Given the description of an element on the screen output the (x, y) to click on. 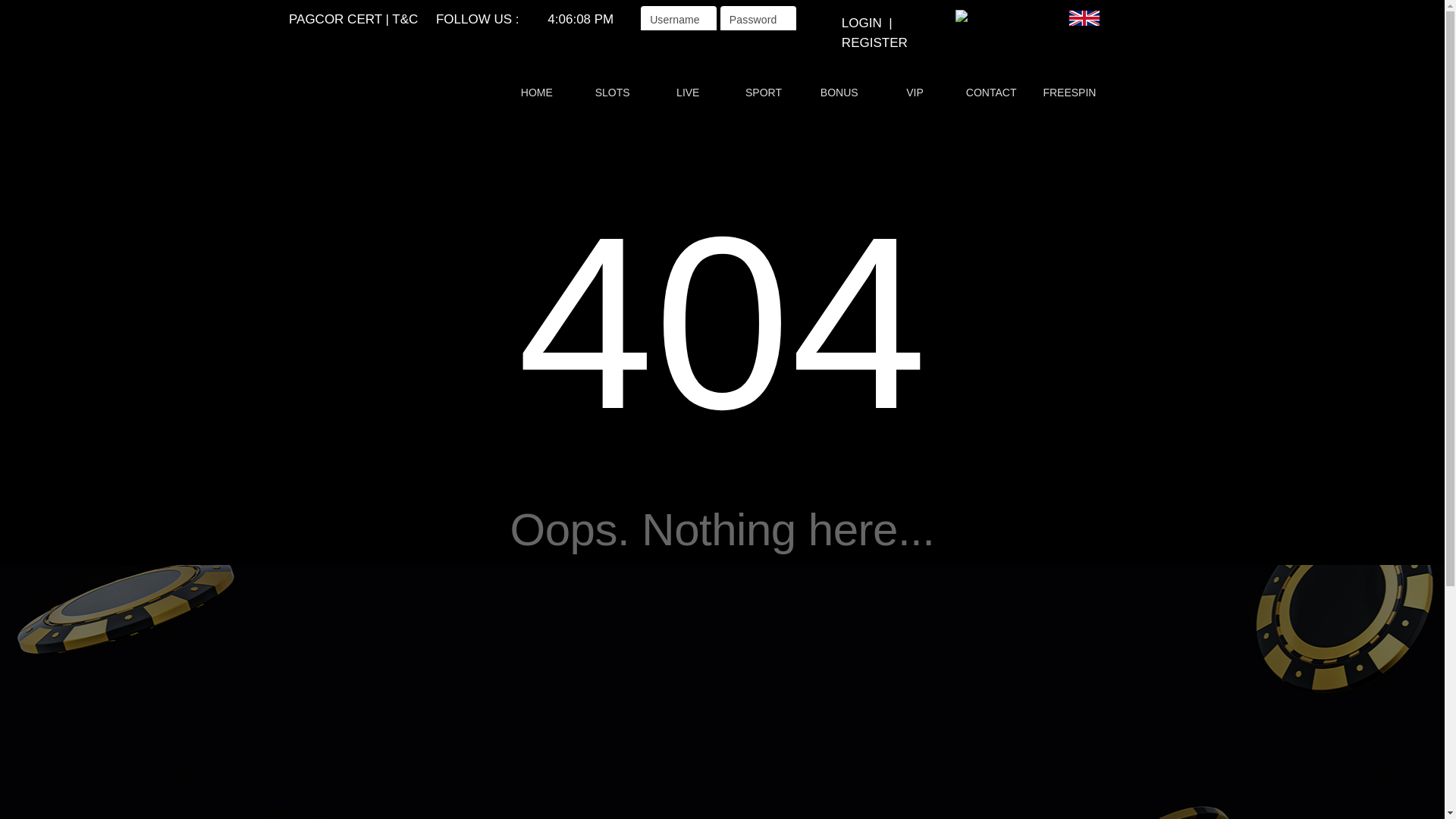
SLOTS Element type: text (612, 92)
CONTACT Element type: text (990, 92)
REGISTER Element type: text (874, 41)
BONUS Element type: text (837, 92)
HOME Element type: text (537, 92)
LIVE Element type: text (686, 92)
PAGCOR CERT Element type: text (335, 19)
BONUS Element type: text (838, 92)
LOGIN Element type: text (861, 22)
HOME Element type: text (535, 92)
SLOTS Element type: text (611, 92)
CONTACT Element type: text (991, 92)
T&C Element type: text (404, 19)
LIVE Element type: text (687, 92)
FREESPIN Element type: text (1068, 92)
FREESPIN Element type: text (1069, 92)
SPORT Element type: text (762, 92)
SPORT Element type: text (763, 92)
VIP Element type: text (914, 92)
